Given the description of an element on the screen output the (x, y) to click on. 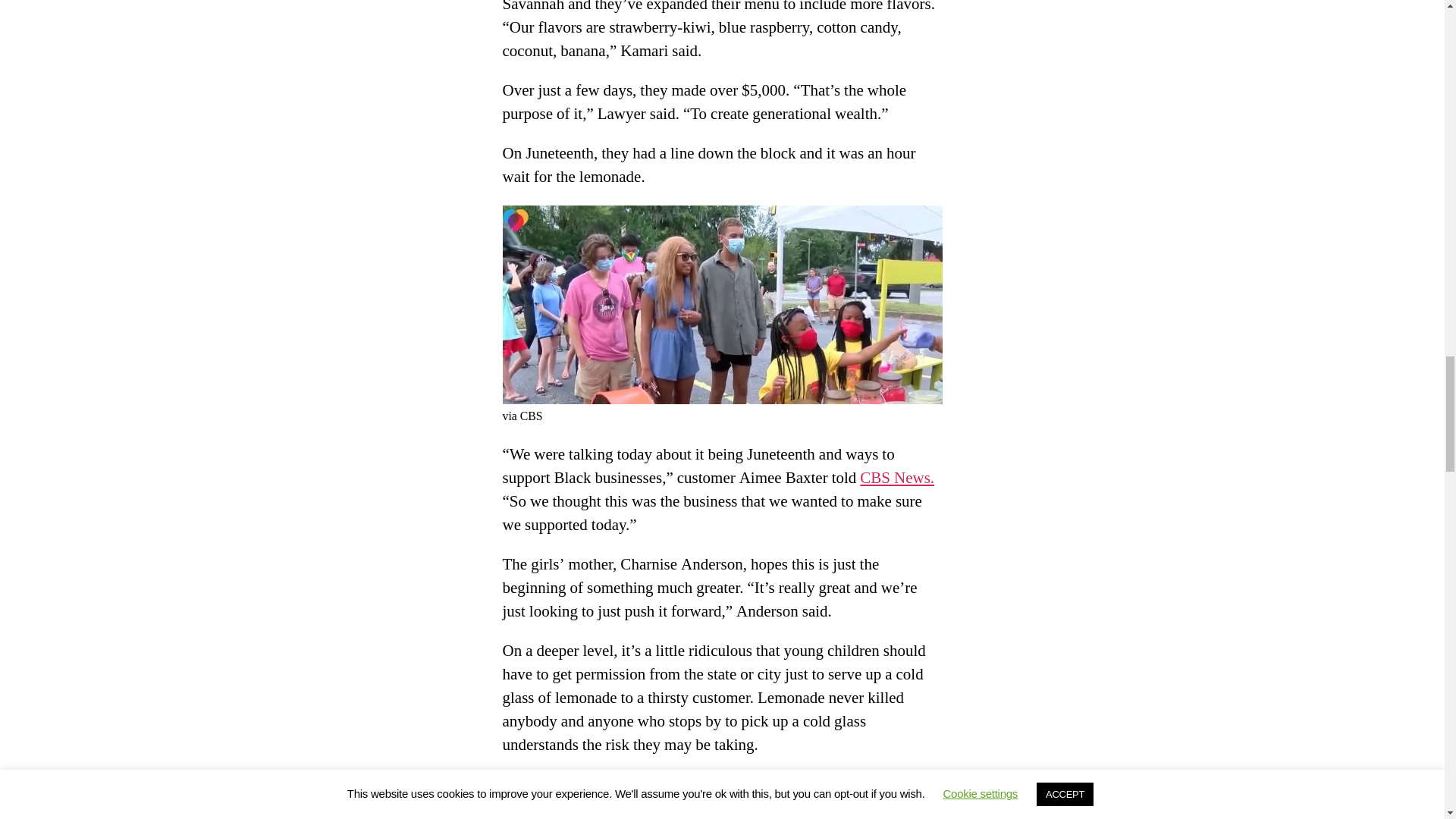
CBS News. (897, 477)
